Given the description of an element on the screen output the (x, y) to click on. 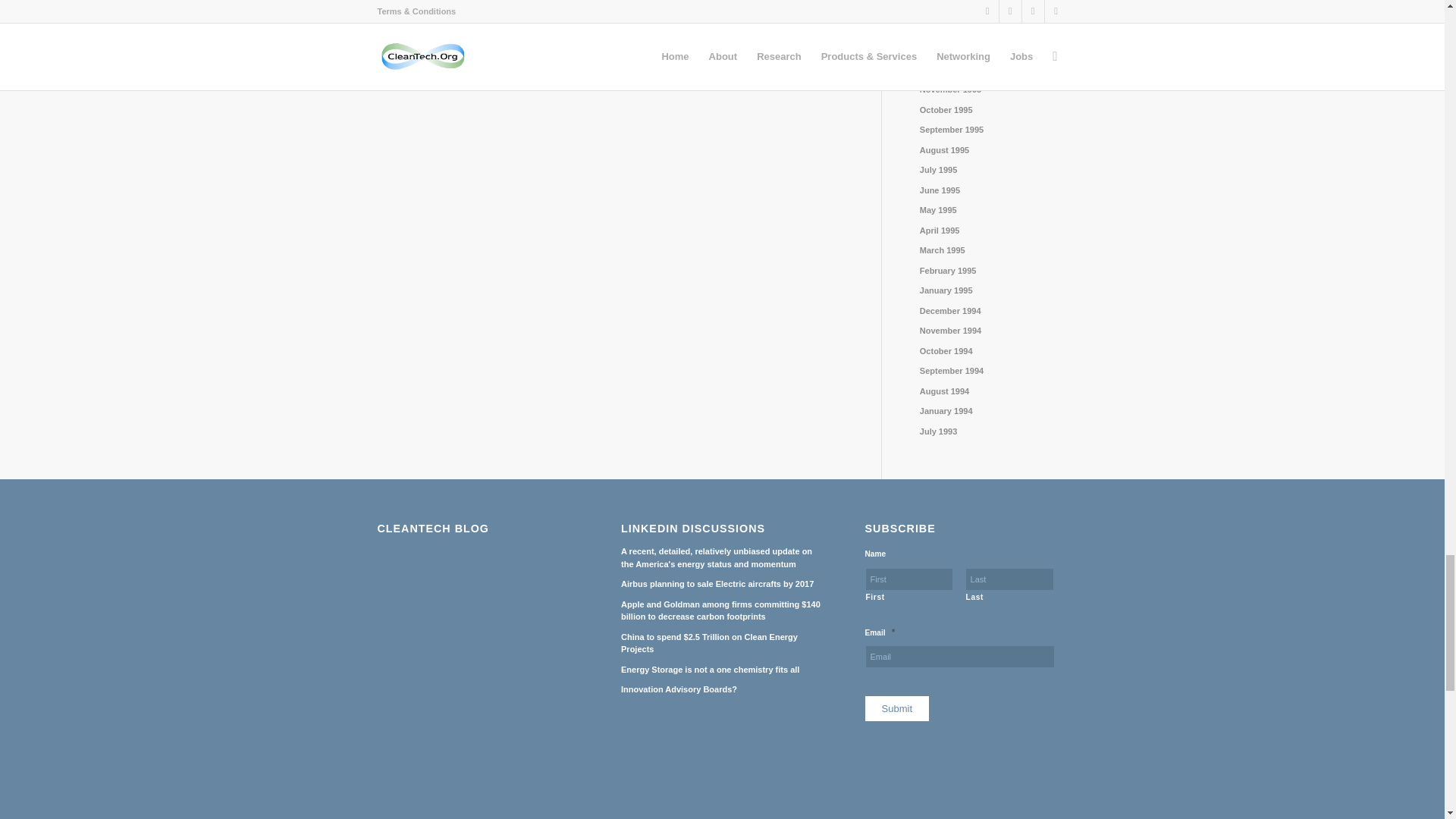
Submit (896, 708)
